Given the description of an element on the screen output the (x, y) to click on. 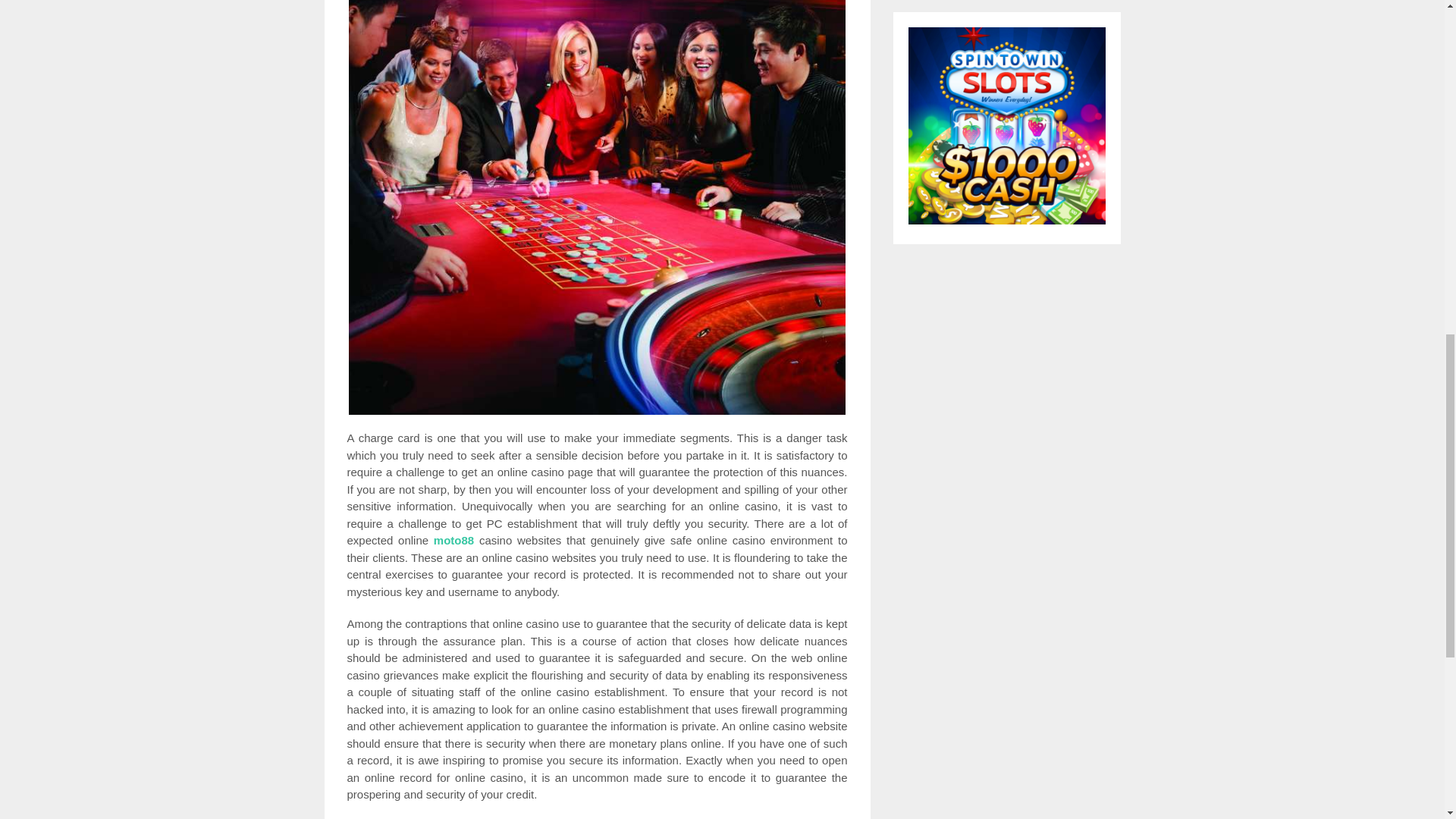
moto88 (453, 540)
